Given the description of an element on the screen output the (x, y) to click on. 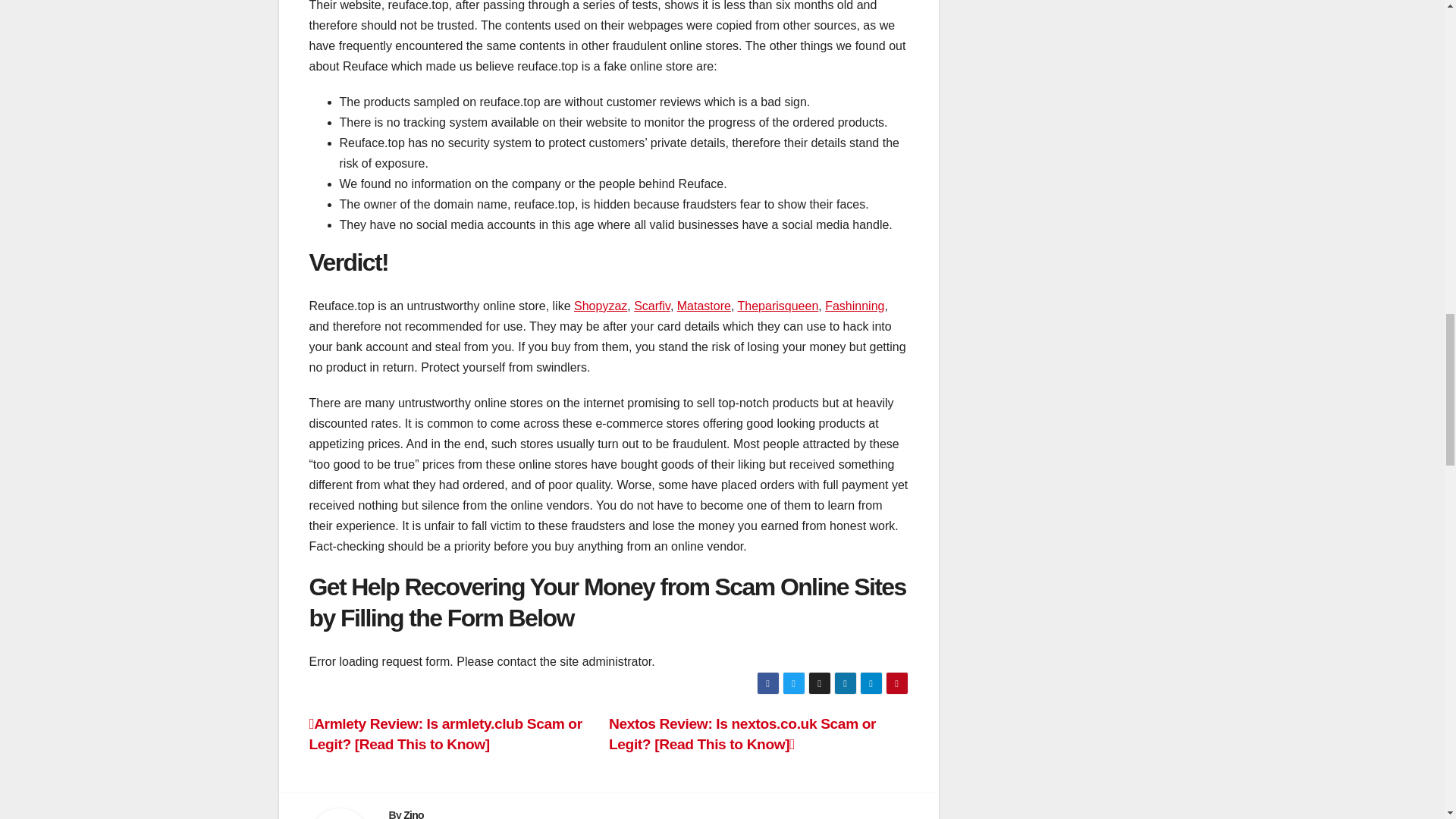
Scarfiv (651, 305)
Fashinning (854, 305)
Matastore (703, 305)
Theparisqueen (778, 305)
Shopyzaz (600, 305)
